Given the description of an element on the screen output the (x, y) to click on. 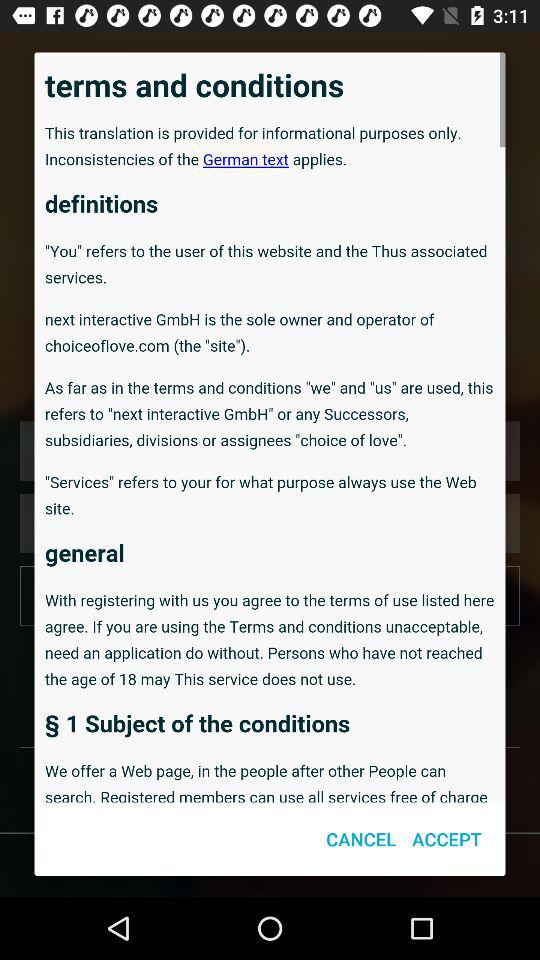
advertisement (269, 427)
